Given the description of an element on the screen output the (x, y) to click on. 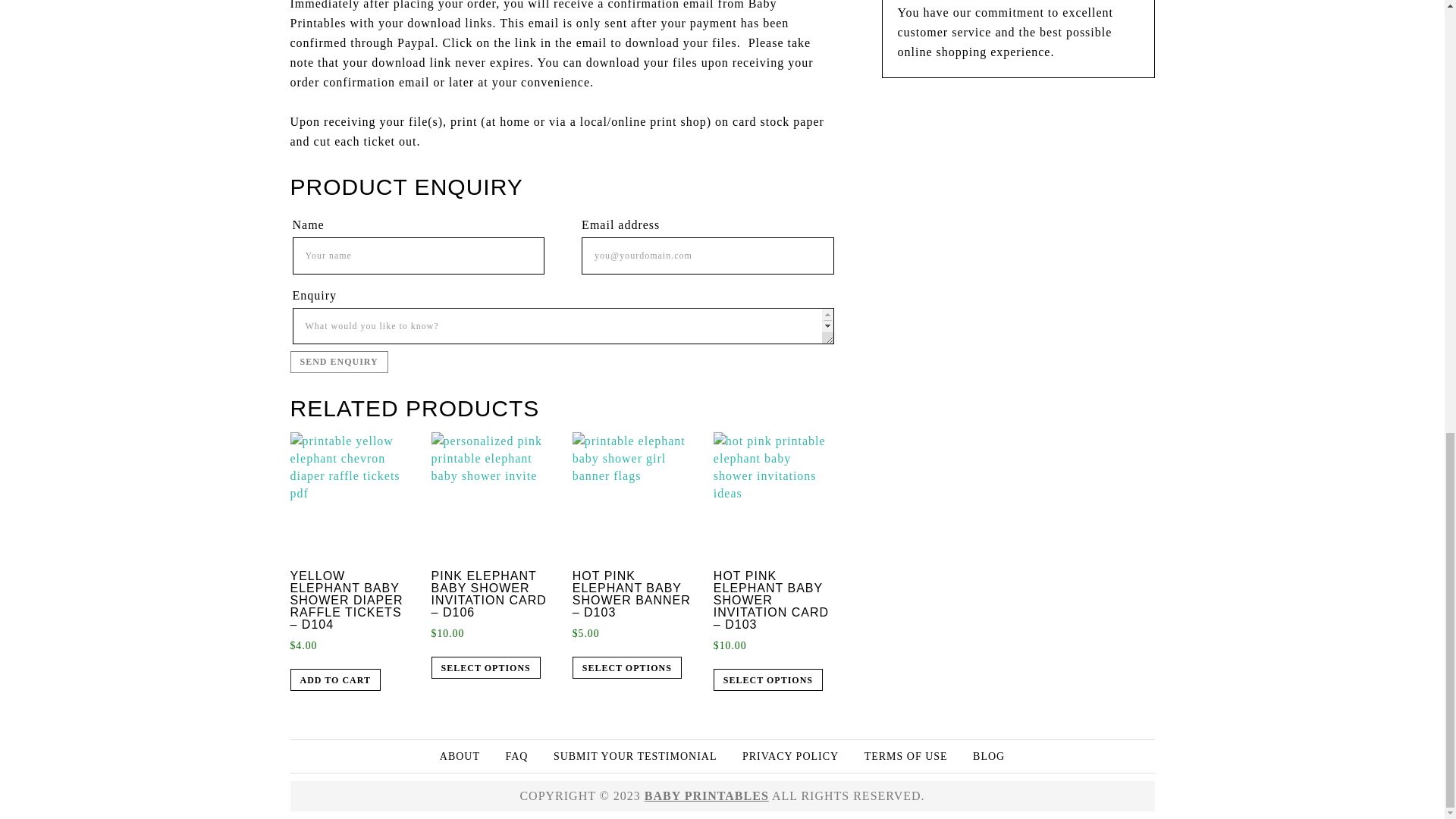
Send Enquiry (338, 362)
